Given the description of an element on the screen output the (x, y) to click on. 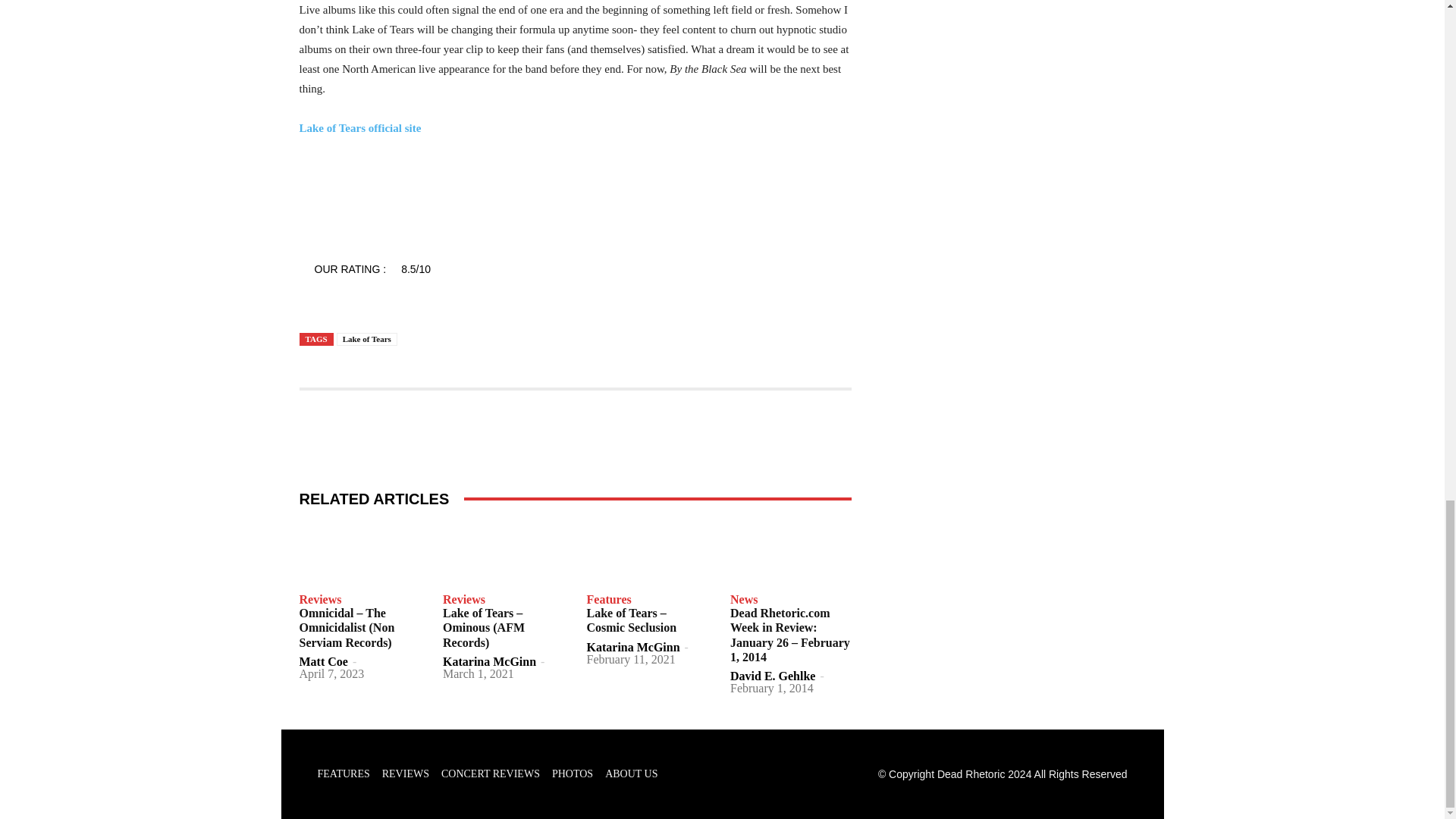
Features (608, 599)
Lake of Tears (366, 338)
Katarina McGinn (632, 646)
Matt Coe (322, 661)
Reviews (463, 599)
Reviews (319, 599)
Katarina McGinn (488, 661)
Lake of Tears official site (359, 128)
